Given the description of an element on the screen output the (x, y) to click on. 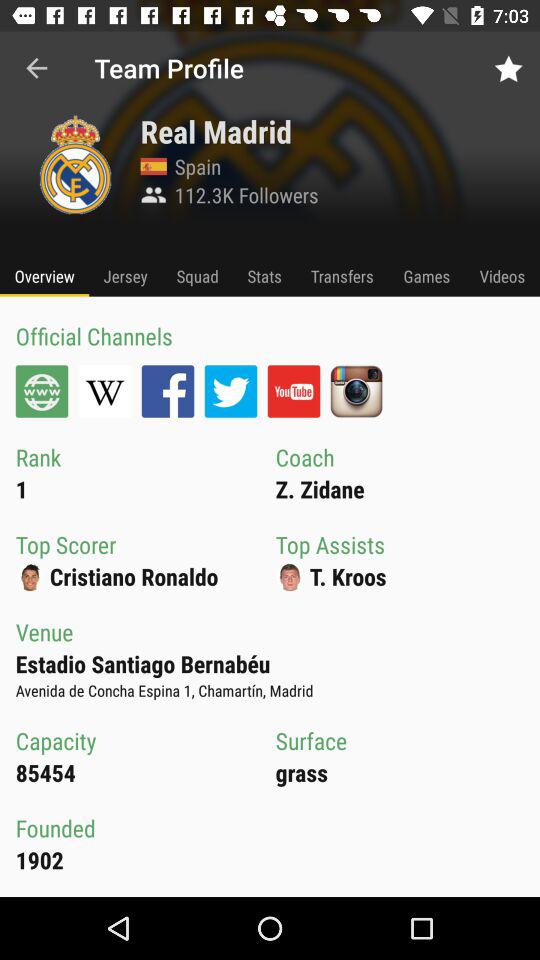
open item above the cristiano ronaldo icon (230, 391)
